Given the description of an element on the screen output the (x, y) to click on. 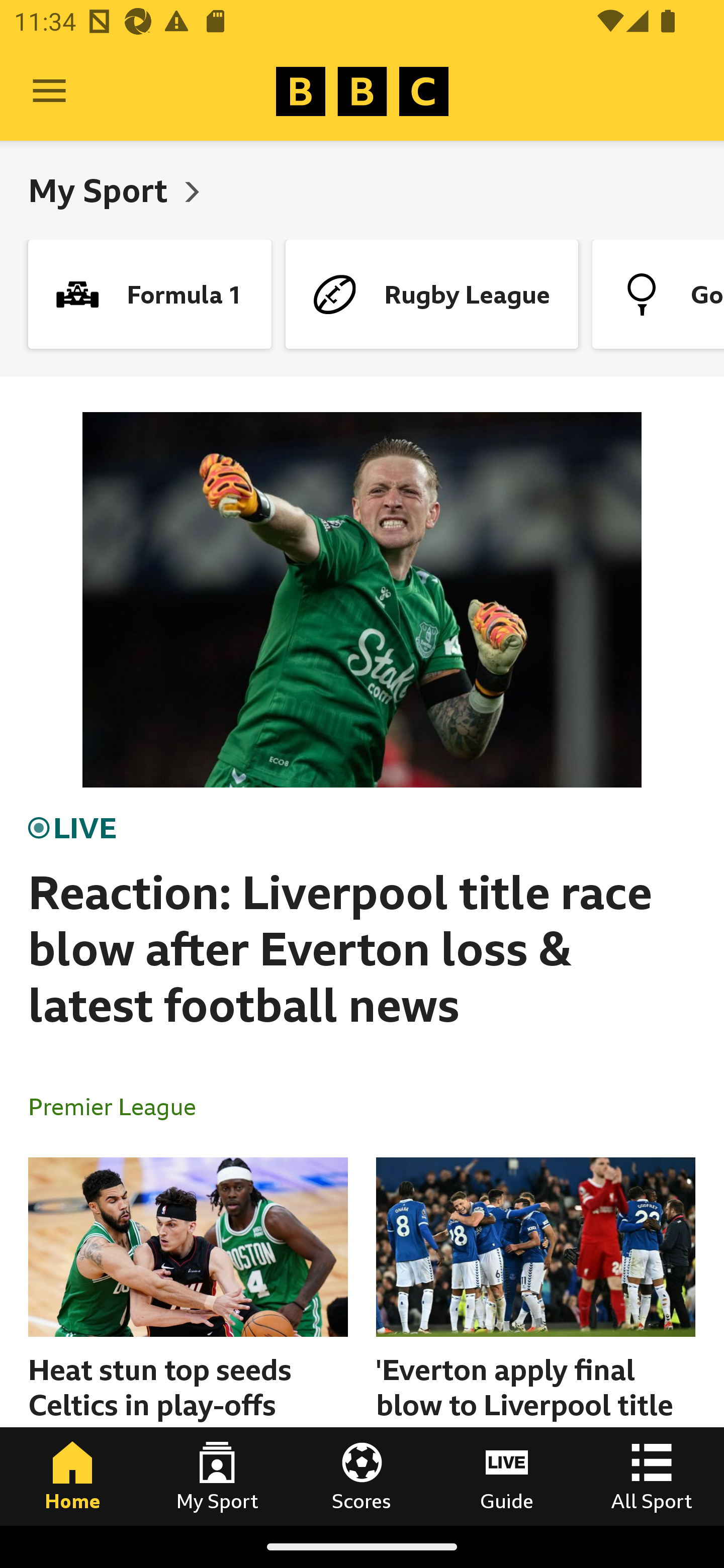
Open Menu (49, 91)
My Sport (101, 190)
Premier League In the section Premier League (119, 1106)
My Sport (216, 1475)
Scores (361, 1475)
Guide (506, 1475)
All Sport (651, 1475)
